Given the description of an element on the screen output the (x, y) to click on. 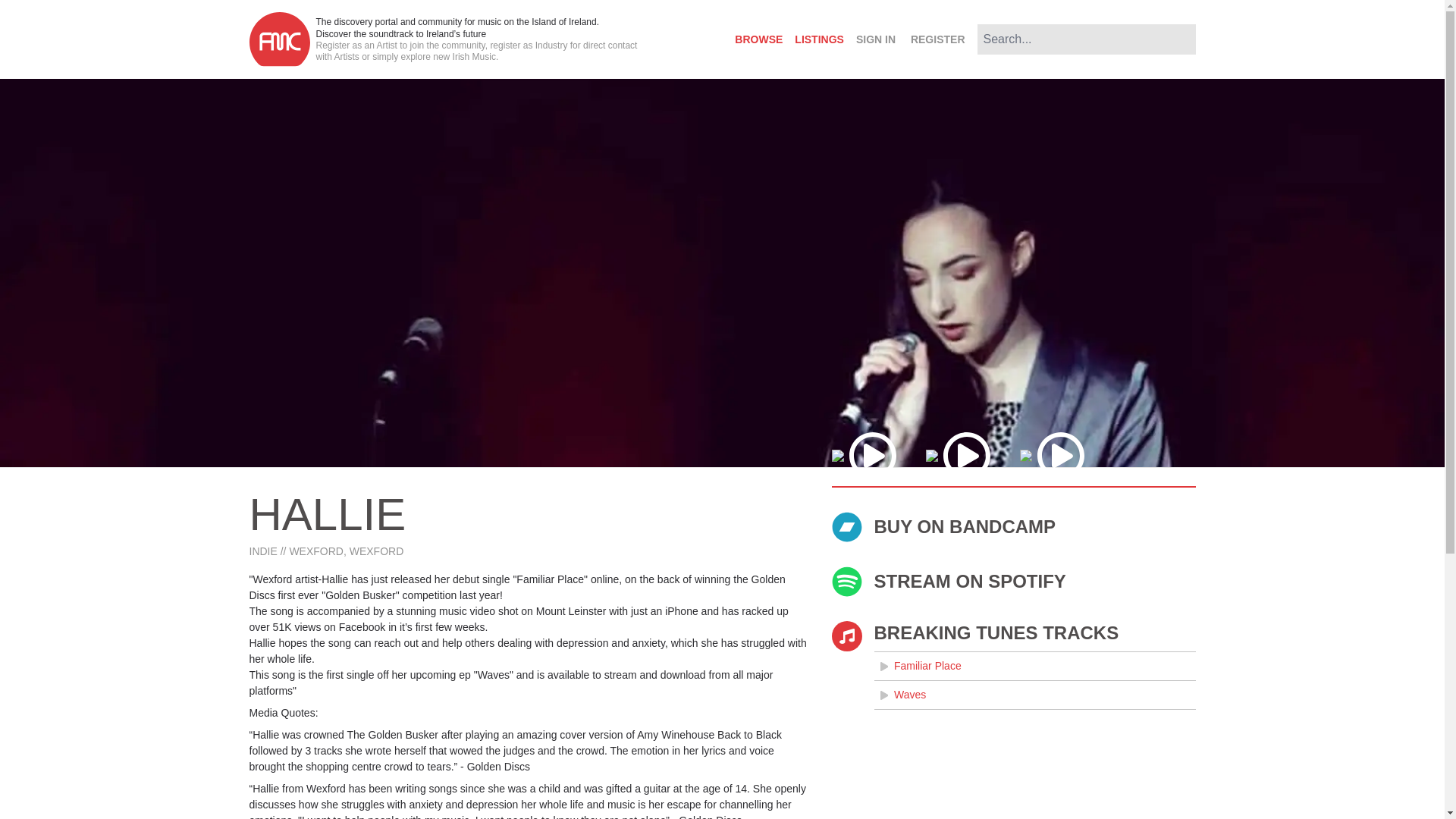
STREAM ON SPOTIFY (1013, 581)
LISTINGS (819, 39)
Waves (1034, 694)
BROWSE (759, 39)
BUY ON BANDCAMP (1013, 526)
Familiar Place (1034, 665)
REGISTER (937, 39)
SIGN IN (875, 39)
